Given the description of an element on the screen output the (x, y) to click on. 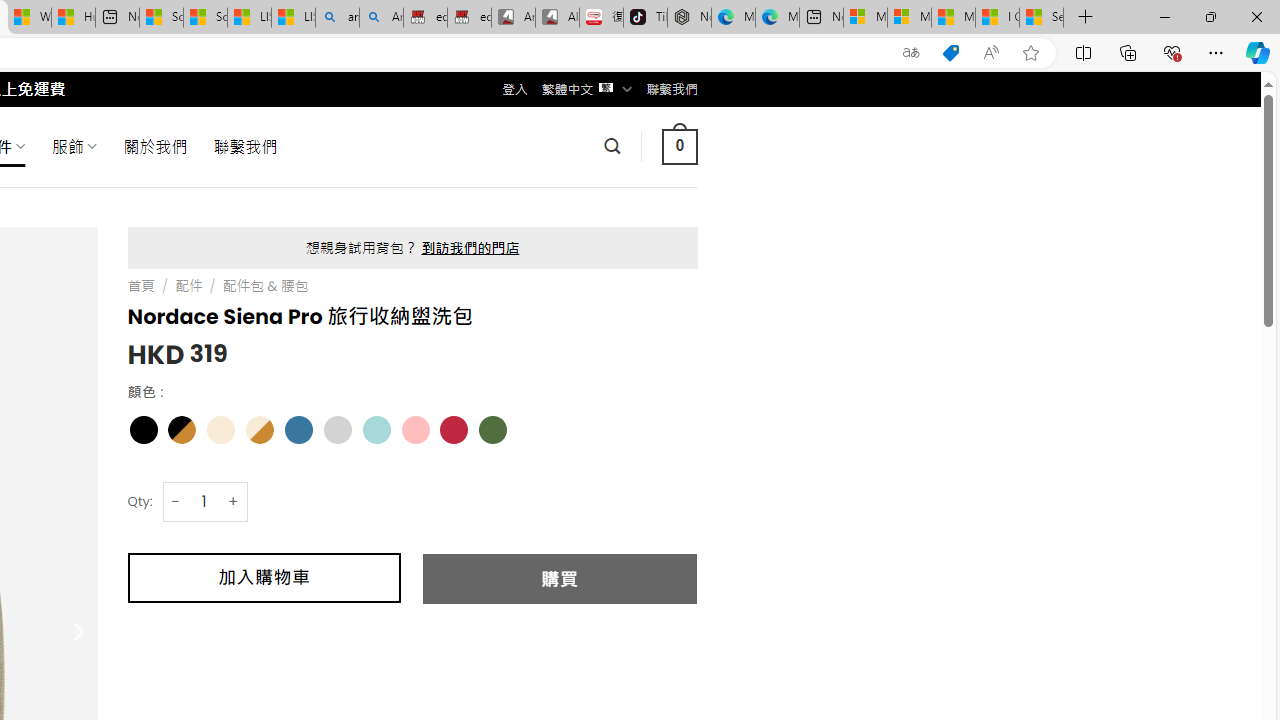
 0  (679, 146)
+ (234, 501)
Nordace - Best Sellers (689, 17)
